Given the description of an element on the screen output the (x, y) to click on. 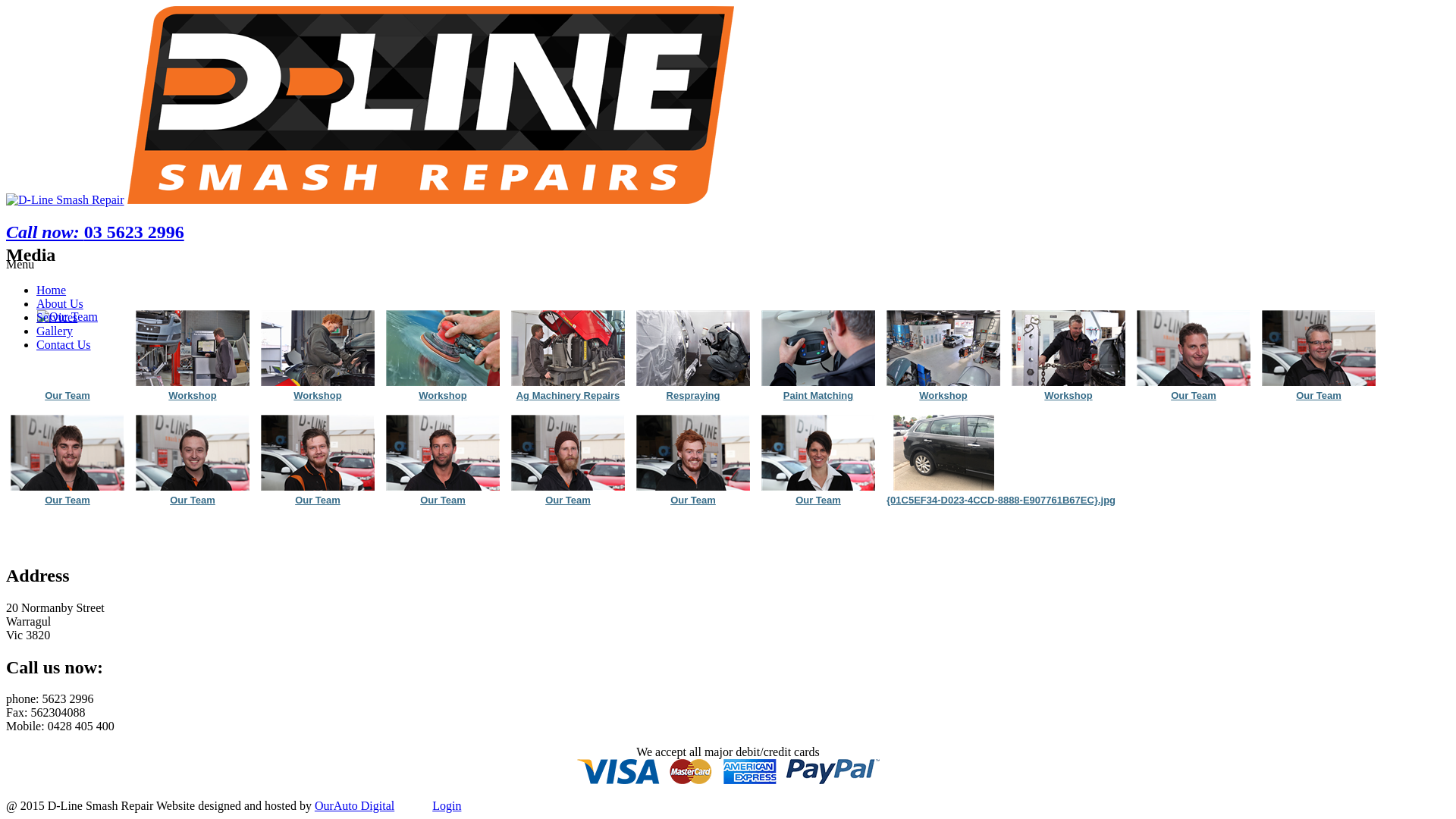
Our Team Element type: text (818, 499)
OurAuto Digital Element type: text (354, 805)
Workshop Element type: text (442, 395)
D-Line Smash Repair Element type: hover (65, 199)
Workshop Element type: hover (442, 347)
Our Team Element type: hover (567, 452)
Our Team Element type: hover (67, 452)
Workshop Element type: hover (1068, 347)
Workshop Element type: hover (192, 347)
Workshop Element type: text (1068, 395)
Gallery Element type: text (54, 330)
Ag Machinery Repairs Element type: hover (567, 347)
Our Team Element type: hover (1318, 347)
Our Team Element type: hover (1193, 347)
Our Team Element type: hover (317, 452)
Ag Machinery Repairs Element type: text (567, 395)
Our Team Element type: hover (67, 316)
Our Team Element type: text (1193, 395)
Workshop Element type: text (943, 395)
Our Team Element type: text (692, 499)
Services Element type: text (56, 316)
Call now: 03 5623 2996 Element type: text (95, 231)
Our Team Element type: text (317, 499)
Our Team Element type: text (67, 395)
Workshop Element type: hover (317, 347)
Workshop Element type: text (317, 395)
Our Team Element type: text (1318, 395)
Menu Element type: text (20, 263)
Respraying Element type: hover (692, 347)
Workshop Element type: hover (943, 347)
Our Team Element type: hover (692, 452)
Workshop Element type: text (192, 395)
Our Team Element type: text (442, 499)
Login Element type: text (446, 805)
Paint Matching Element type: text (818, 395)
Contact Us Element type: text (63, 344)
D-Line Smash Repair Element type: hover (430, 199)
Home Element type: text (50, 289)
Our Team Element type: hover (818, 452)
Our Team Element type: text (567, 499)
About Us Element type: text (59, 303)
Our Team Element type: text (192, 499)
Our Team Element type: hover (192, 452)
Our Team Element type: hover (442, 452)
Paint Matching Element type: hover (818, 347)
Respraying Element type: text (692, 395)
Our Team Element type: text (67, 499)
